Given the description of an element on the screen output the (x, y) to click on. 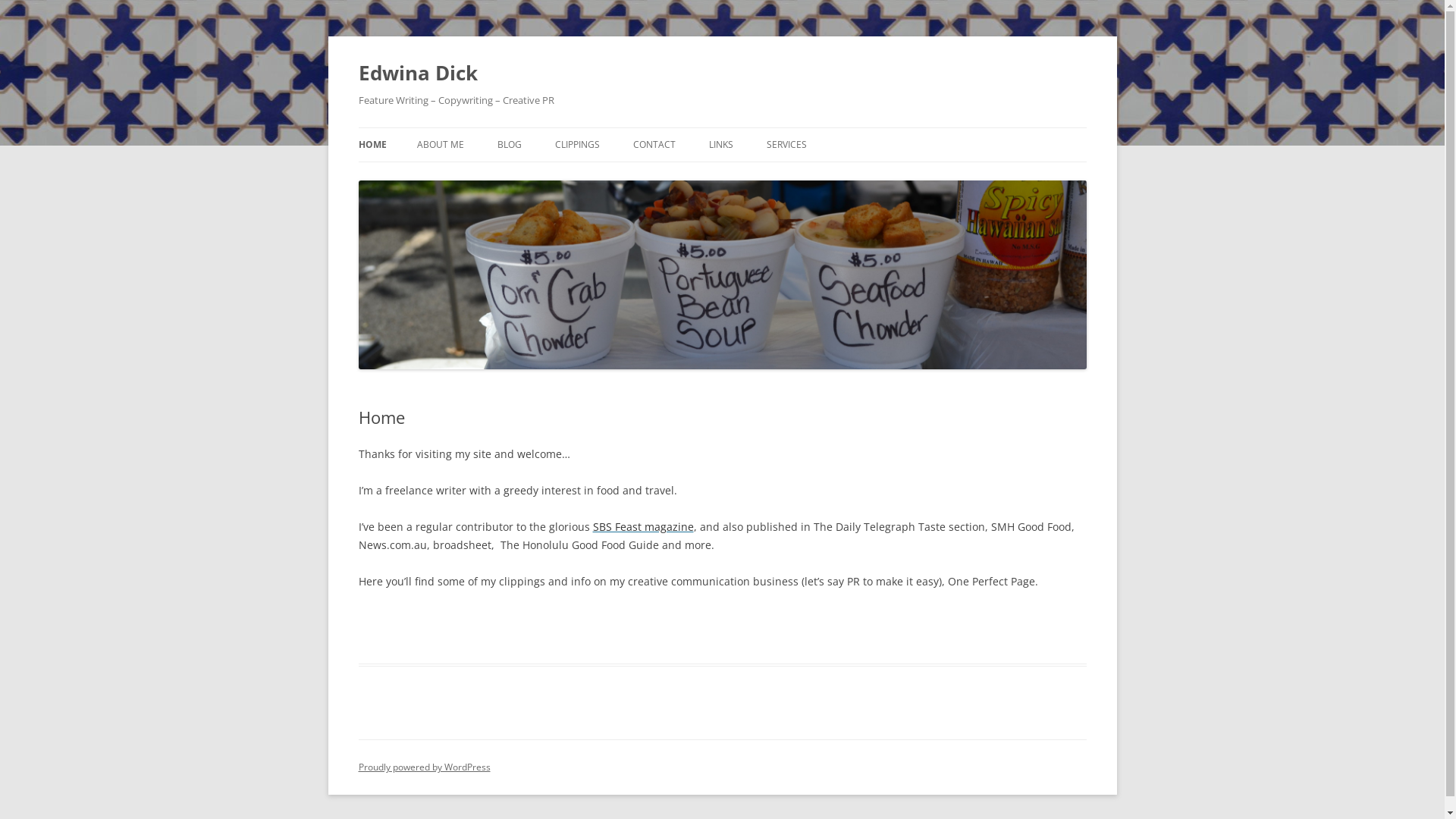
SERVICES Element type: text (785, 144)
Skip to content Element type: text (721, 127)
LINKS Element type: text (720, 144)
BLOG Element type: text (509, 144)
ABOUT ME Element type: text (440, 144)
CONTACT Element type: text (653, 144)
SBS Feast magazine Element type: text (643, 526)
CLIPPINGS Element type: text (577, 144)
HOME Element type: text (371, 144)
Proudly powered by WordPress Element type: text (423, 766)
Edwina Dick Element type: text (416, 72)
